Given the description of an element on the screen output the (x, y) to click on. 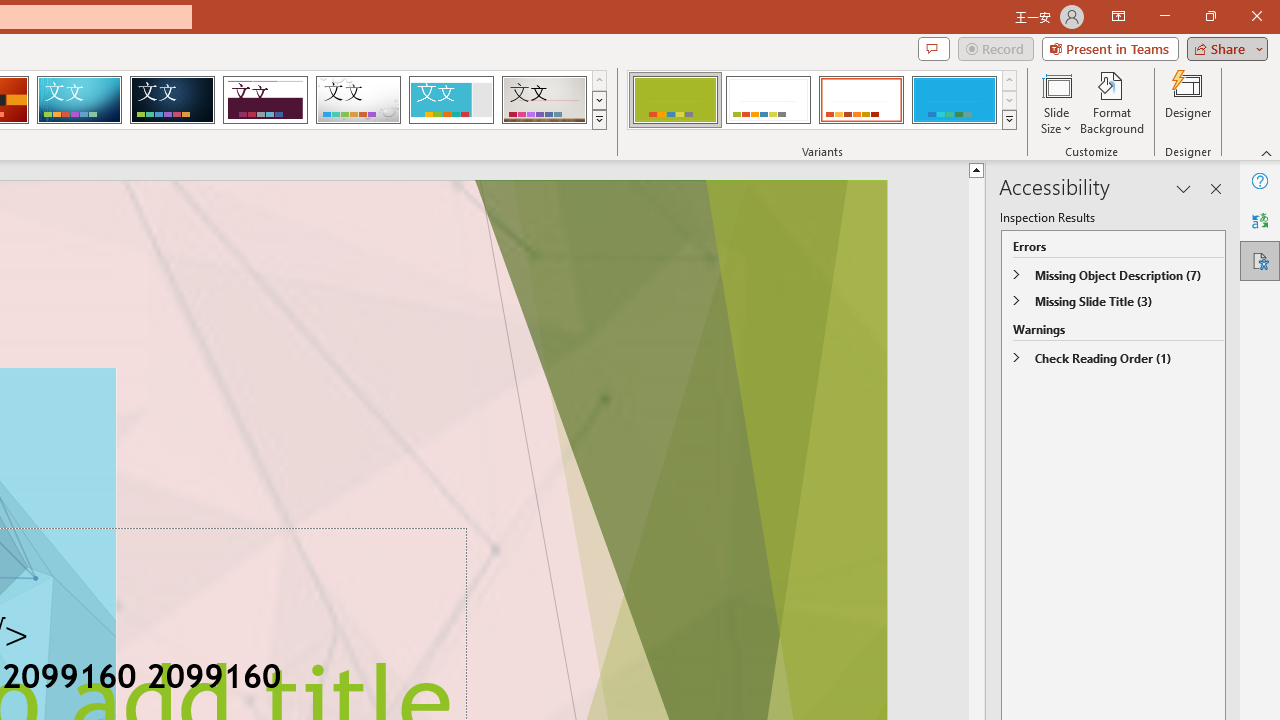
Circuit (79, 100)
Basis Variant 3 (861, 100)
Format Background (1111, 102)
